Given the description of an element on the screen output the (x, y) to click on. 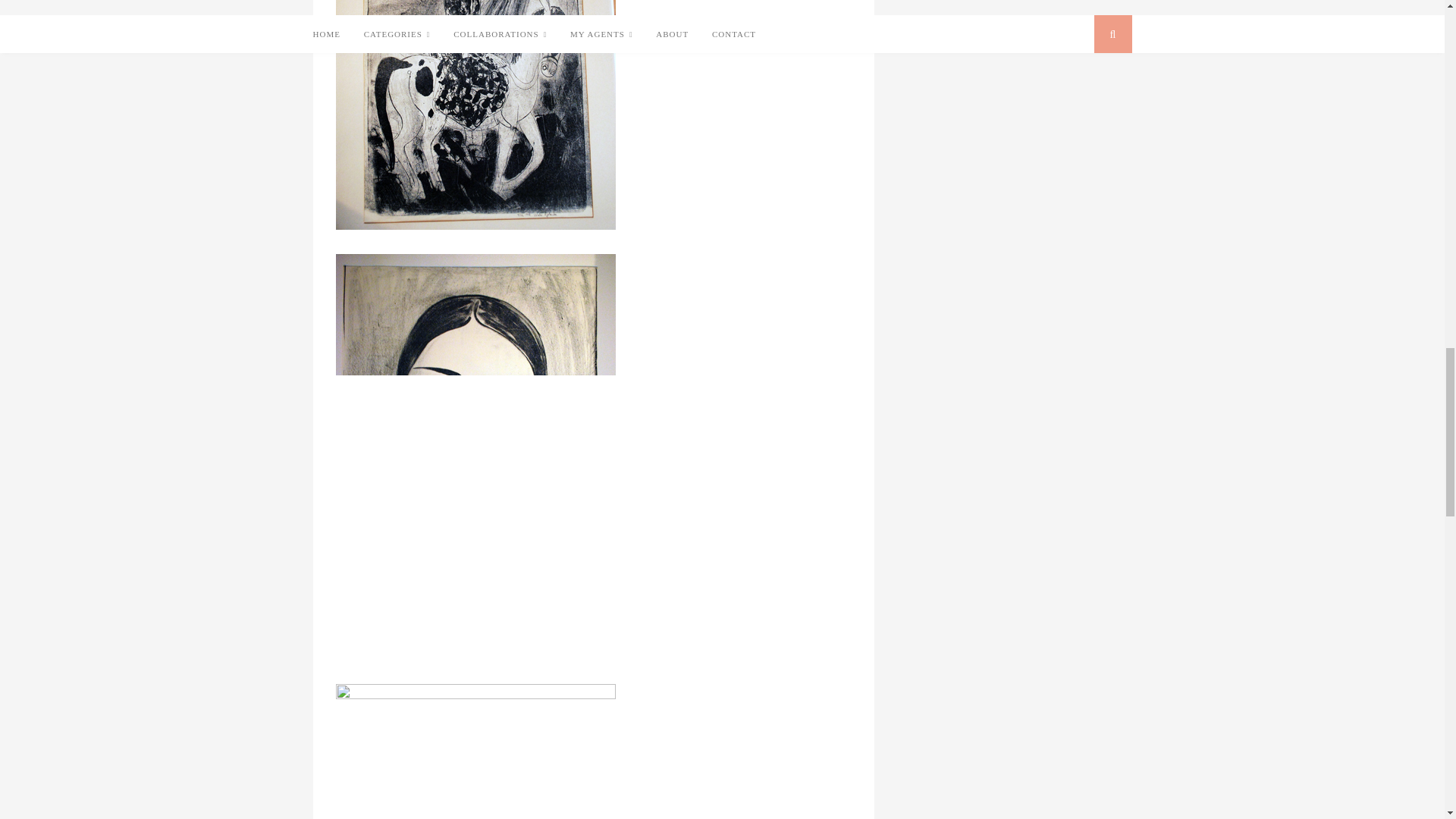
w7 (474, 751)
w5 (474, 115)
w6 (474, 456)
